Given the description of an element on the screen output the (x, y) to click on. 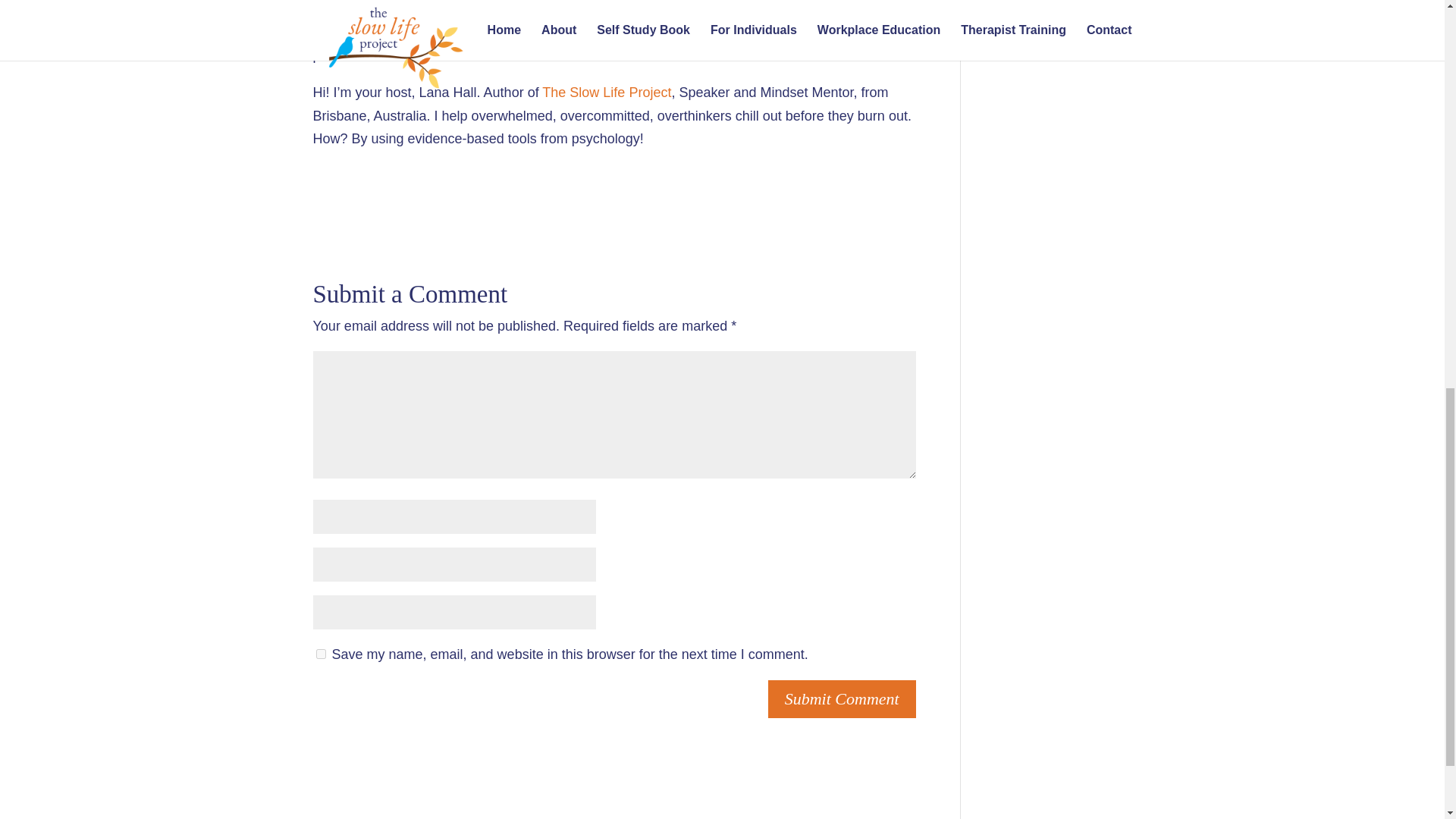
The Slow Life Project approach to personal development (629, 32)
yes (319, 654)
Submit Comment (841, 699)
The Slow Life Project (606, 92)
Submit Comment (841, 699)
